Given the description of an element on the screen output the (x, y) to click on. 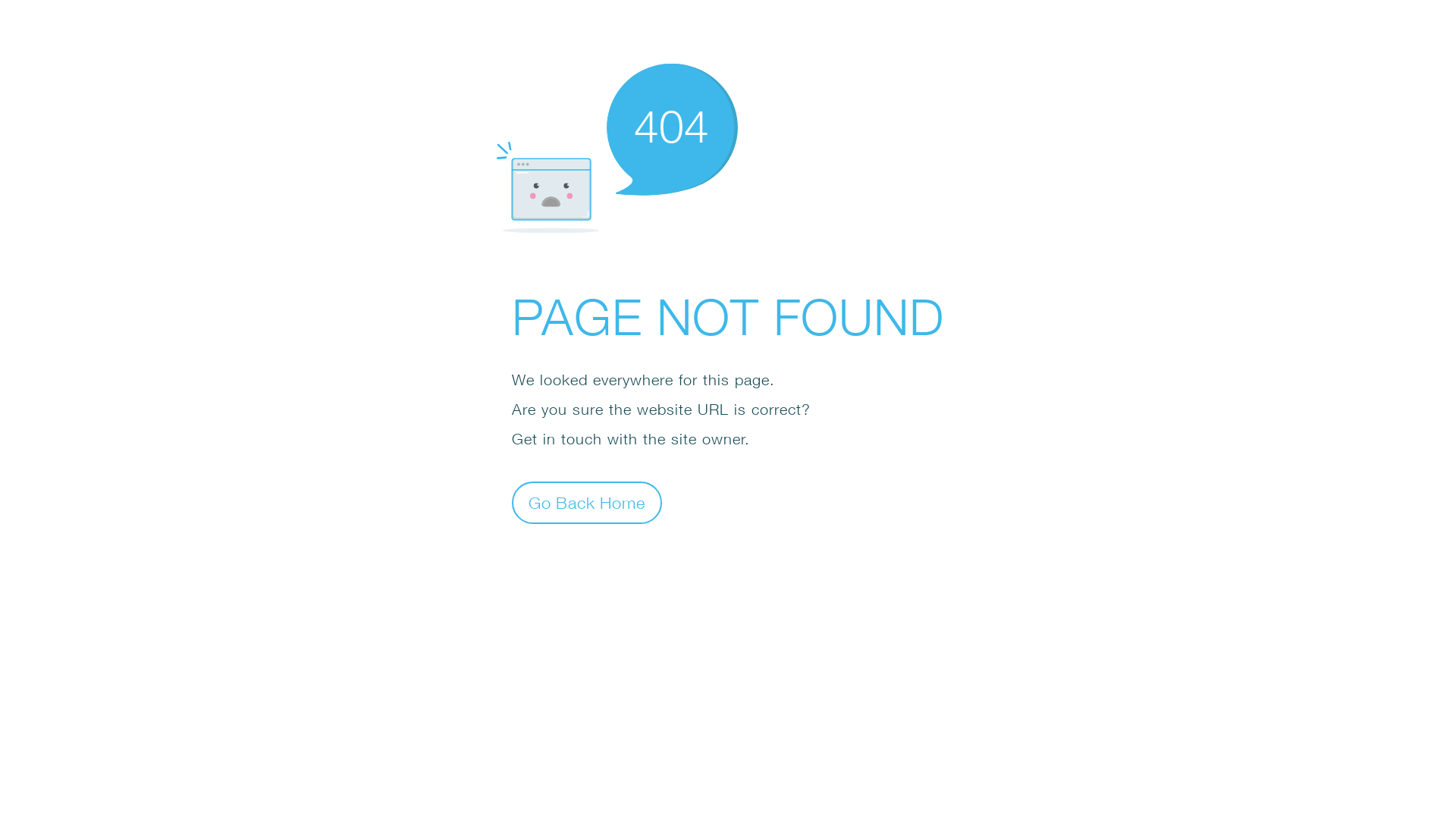
Go Back Home Element type: text (586, 502)
